Given the description of an element on the screen output the (x, y) to click on. 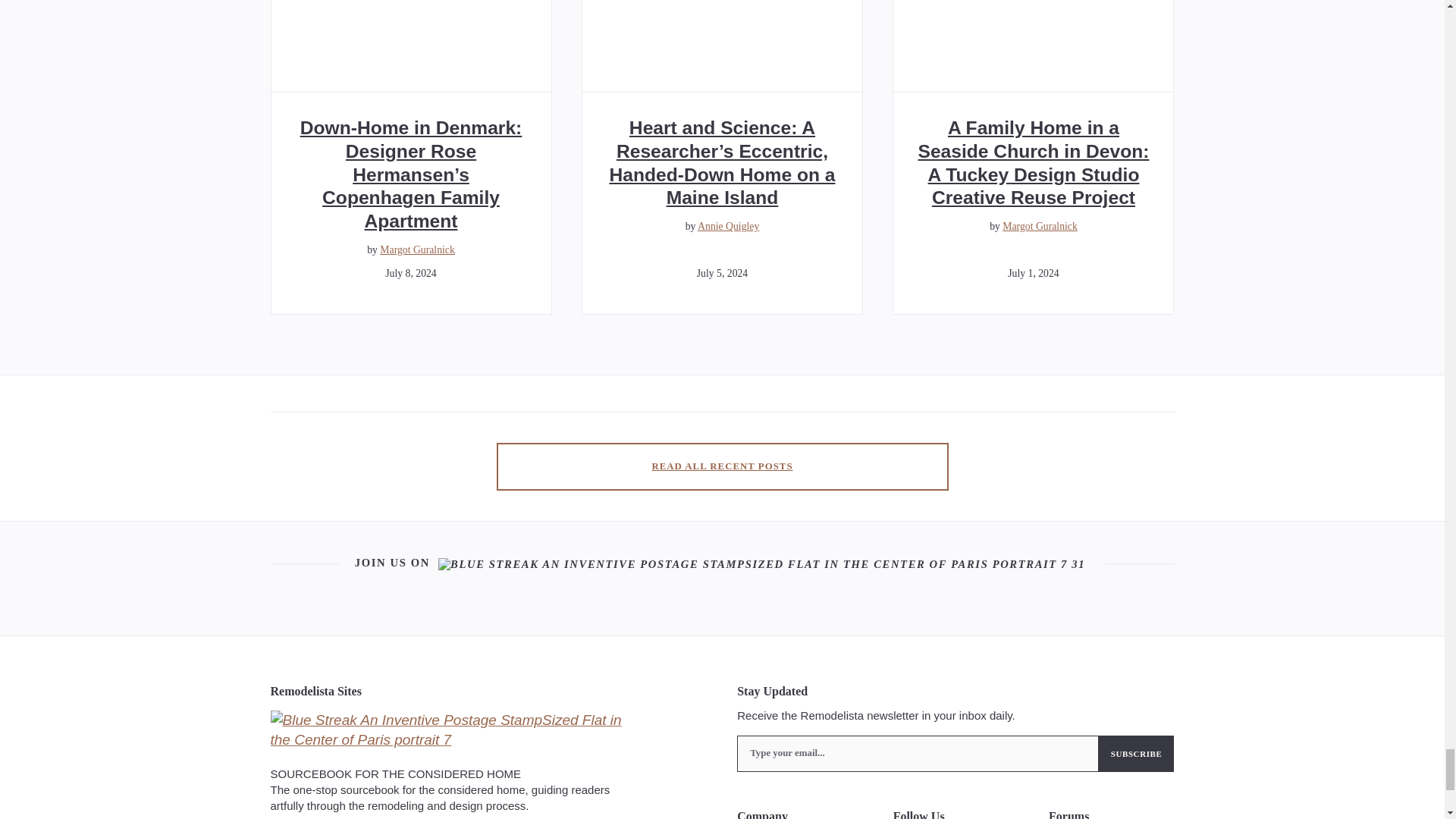
Subscribe (1136, 753)
